Given the description of an element on the screen output the (x, y) to click on. 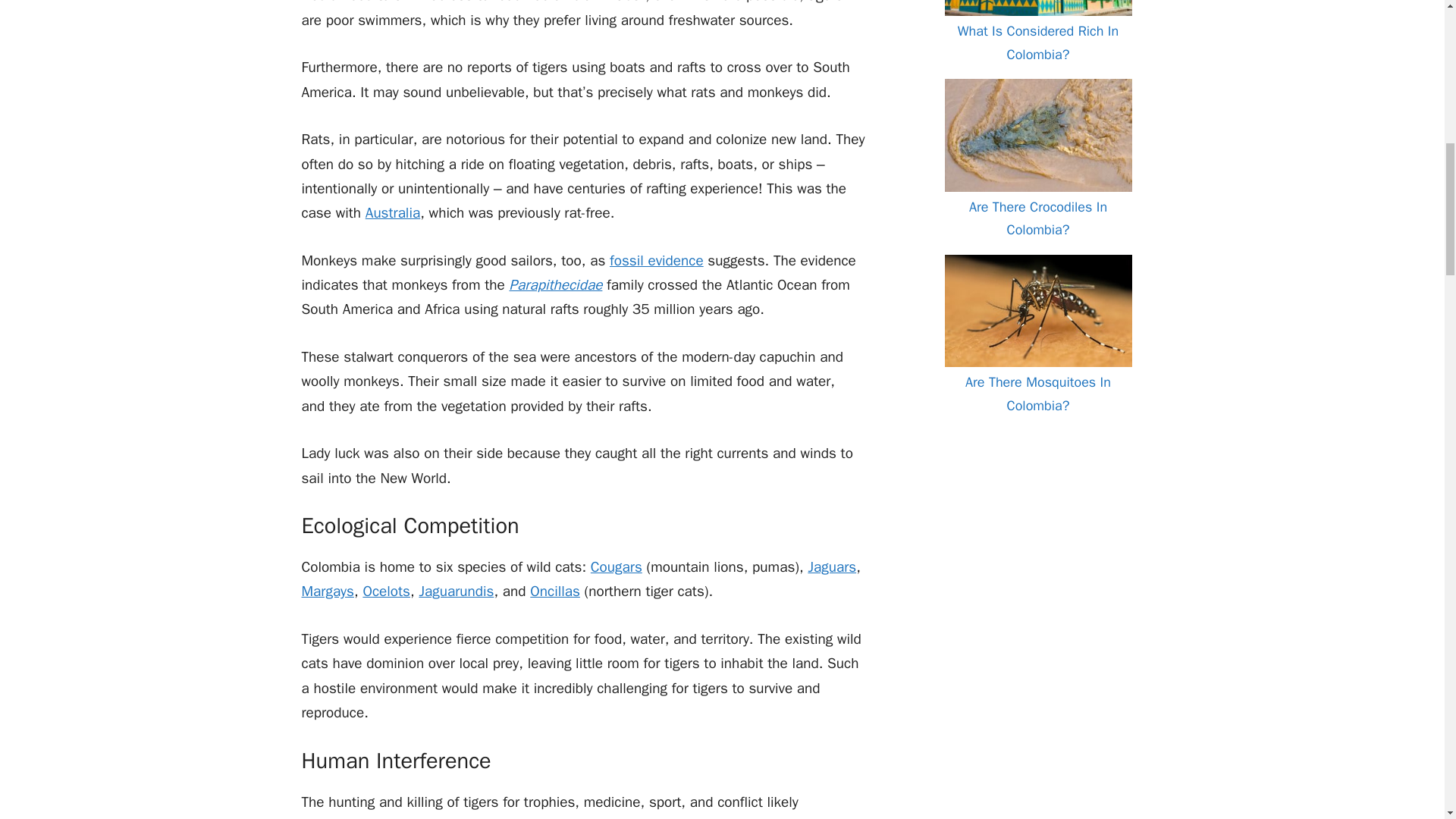
Jaguars (832, 566)
Parapithecidae (555, 285)
fossil evidence (656, 260)
Cougars (616, 566)
Margays (327, 591)
Jaguarundis (456, 591)
Australia (392, 212)
Oncillas (554, 591)
Ocelots (386, 591)
